Given the description of an element on the screen output the (x, y) to click on. 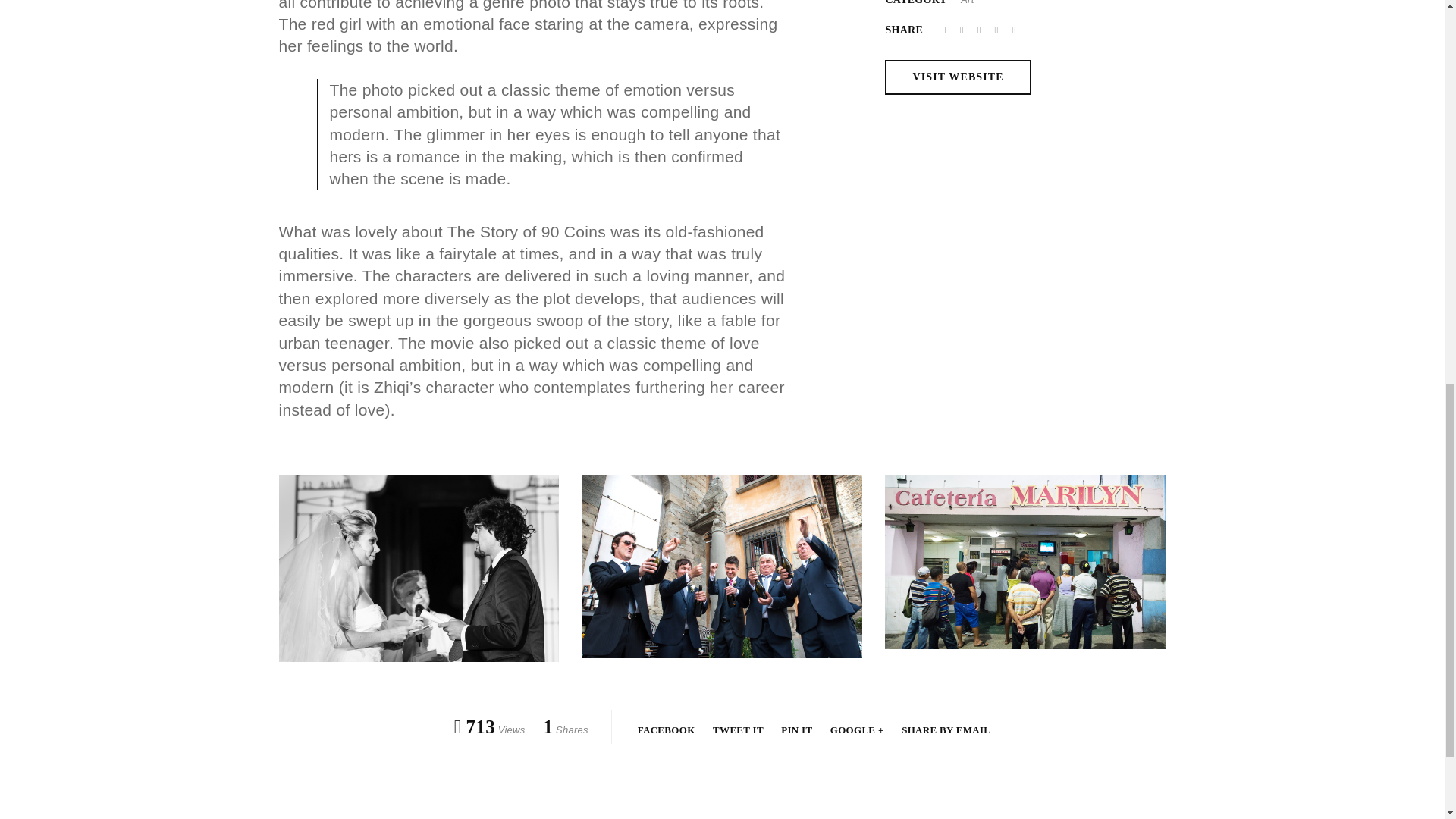
Share this article to Pinterest (797, 729)
VISIT WEBSITE (957, 77)
Alessandro Borghese e Wilma Olivero, Telese, 2009 (418, 568)
Share this article to Pinterest (1013, 30)
Share this article to Facebook (946, 30)
Share this article to Facebook (667, 729)
Share this article to GooglePlus (981, 30)
TWEET IT (738, 729)
Share this article to Linkedin (998, 30)
Share by email (945, 729)
Share this article to GooglePlus (857, 729)
Art (967, 2)
Santiago de Cuba 2013 (1024, 562)
PIN IT (797, 729)
Share this article to Twitter (963, 30)
